Given the description of an element on the screen output the (x, y) to click on. 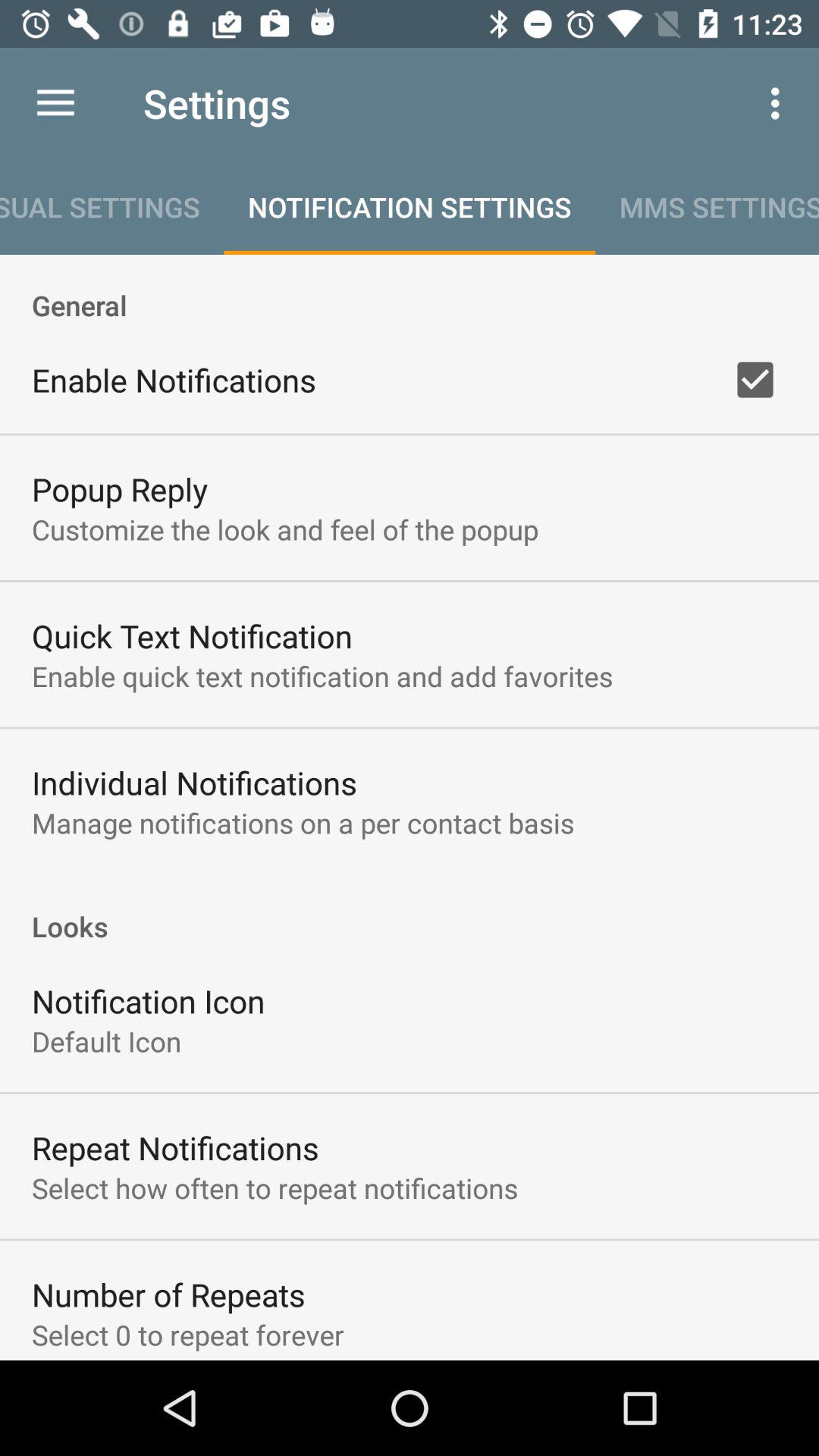
click item below the visual settings item (409, 289)
